Given the description of an element on the screen output the (x, y) to click on. 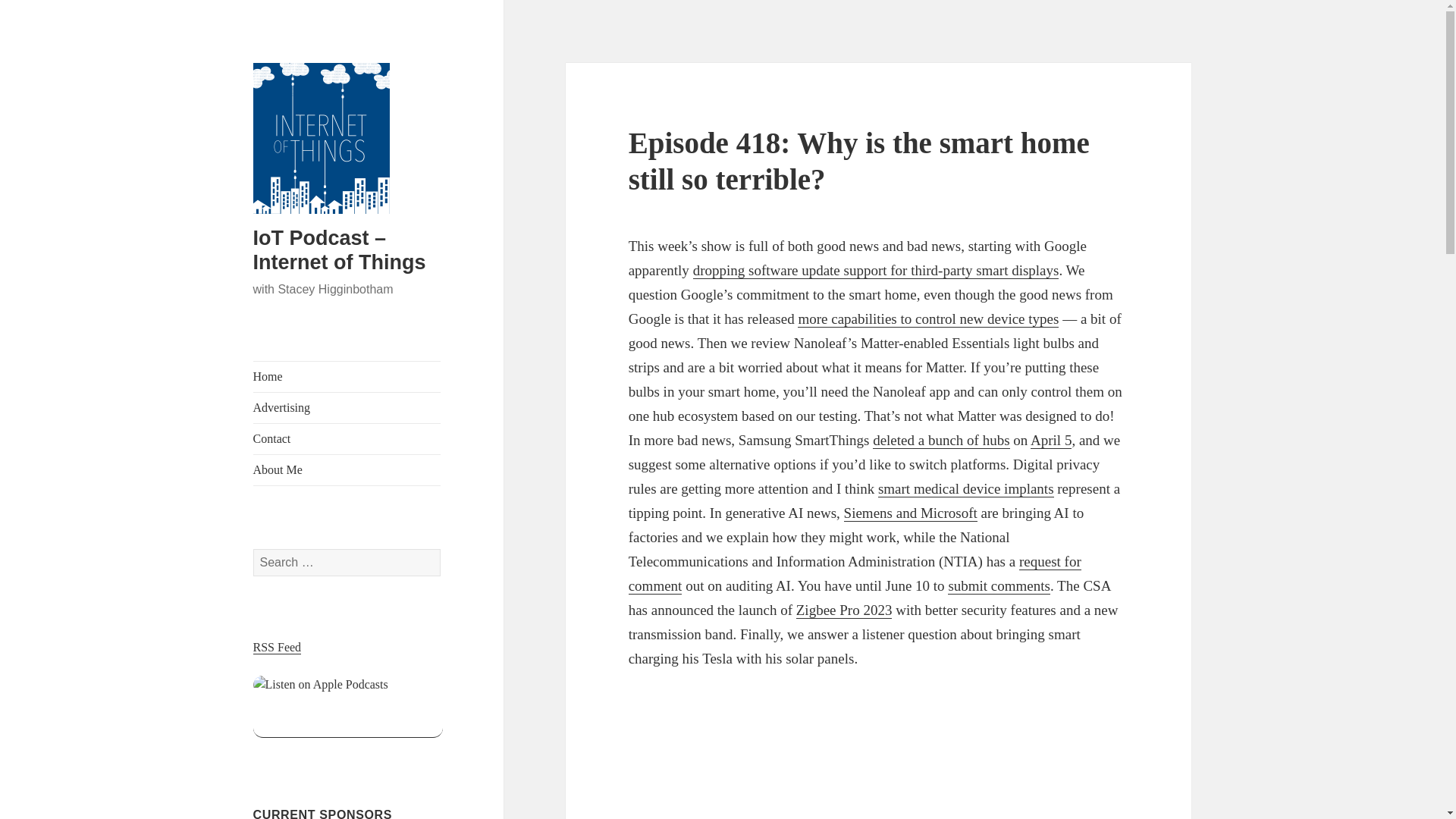
RSS Feed (277, 647)
request for comment (854, 573)
smart medical device implants (965, 488)
Siemens and Microsoft (910, 513)
Advertising (347, 408)
Home (347, 376)
submit comments (998, 586)
deleted a bunch of hubs (940, 440)
Contact (347, 439)
About Me (347, 470)
Zigbee Pro 2023 (844, 610)
April 5 (1050, 440)
